Given the description of an element on the screen output the (x, y) to click on. 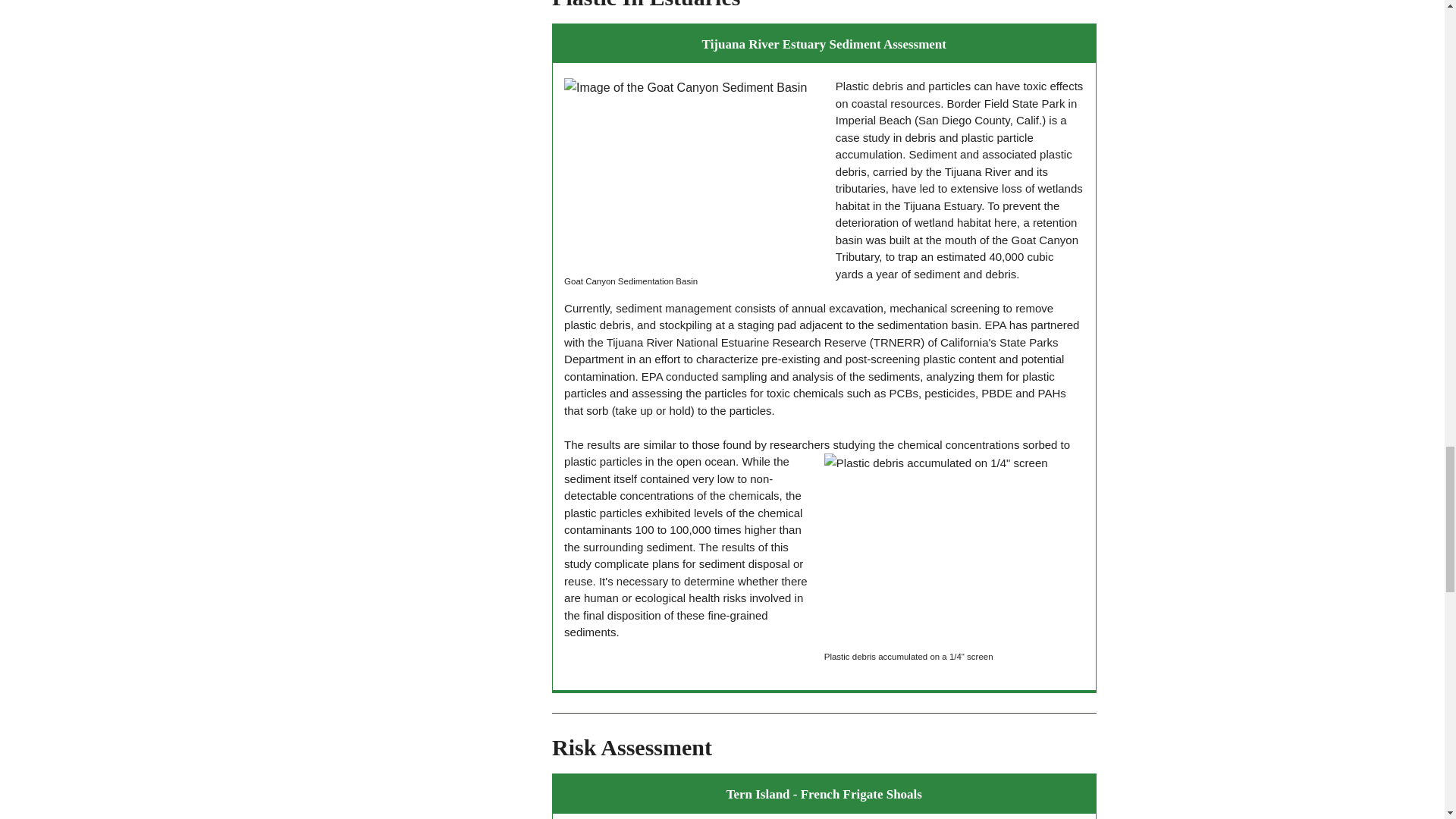
Goat Canyon Sediment Basin (694, 174)
